Given the description of an element on the screen output the (x, y) to click on. 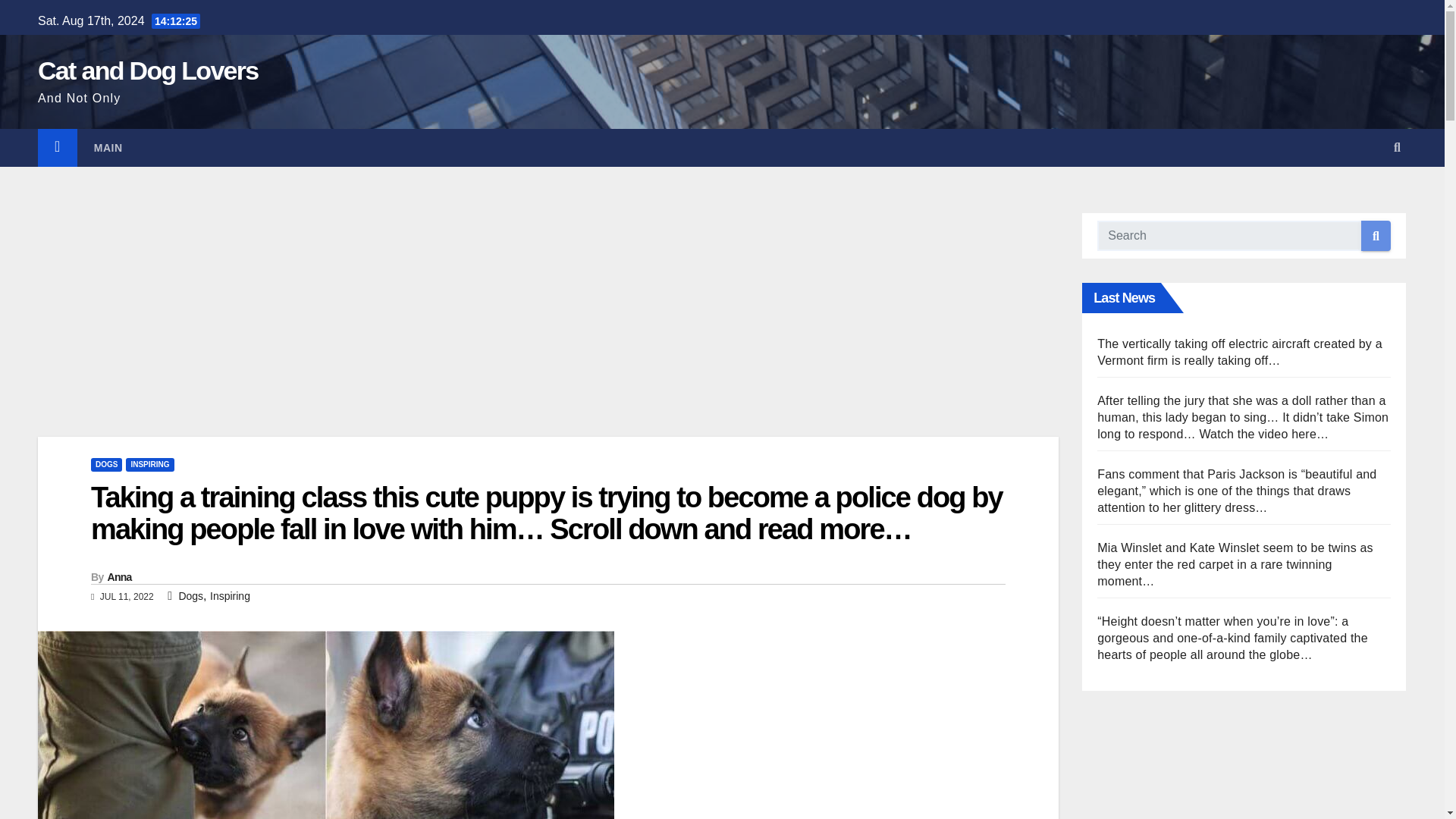
MAIN (108, 147)
Cat and Dog Lovers (148, 70)
DOGS (106, 464)
Dogs (190, 595)
Inspiring (229, 595)
Anna (119, 576)
Main (108, 147)
INSPIRING (149, 464)
